Given the description of an element on the screen output the (x, y) to click on. 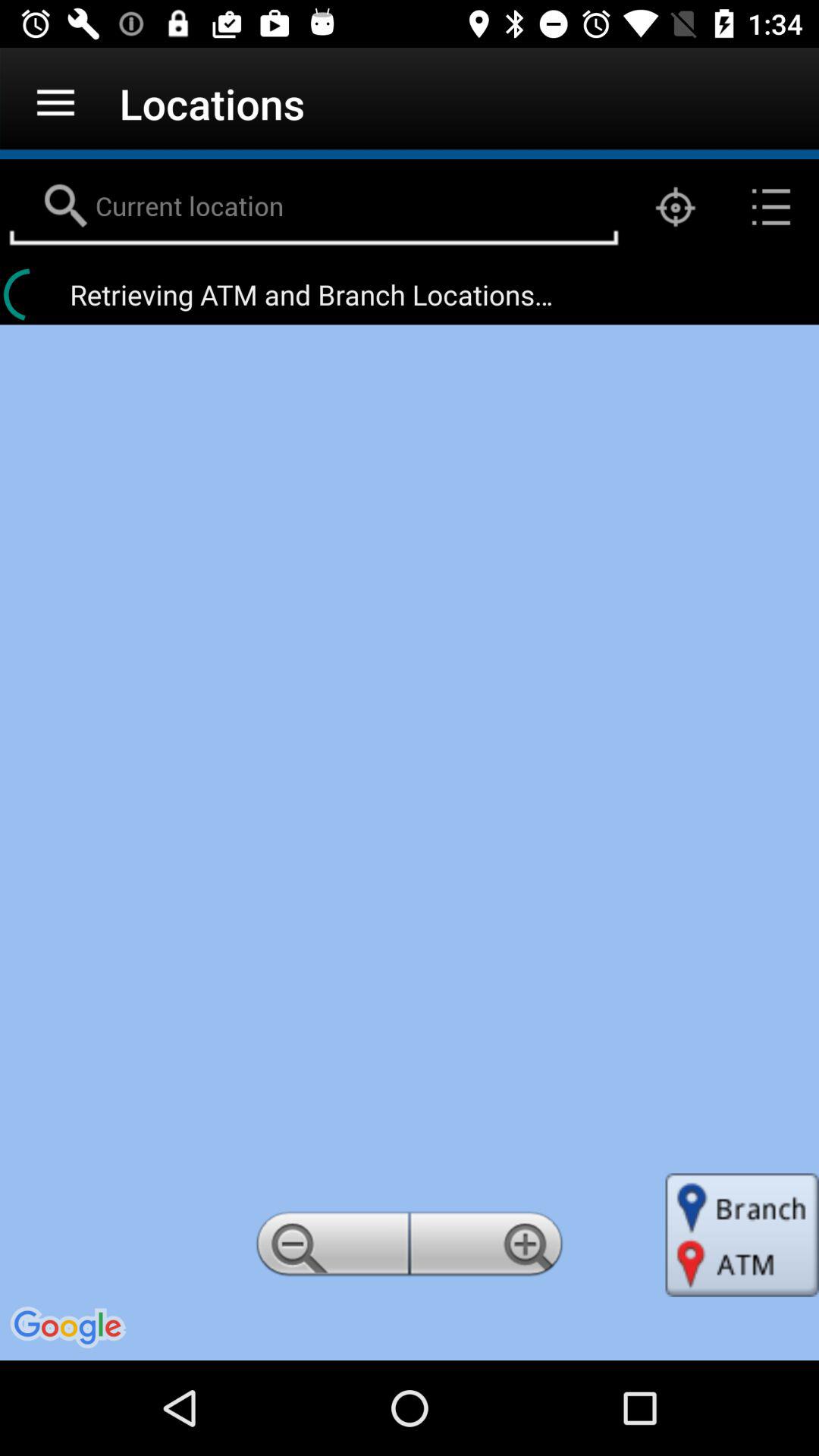
decrease zoom (329, 1248)
